Given the description of an element on the screen output the (x, y) to click on. 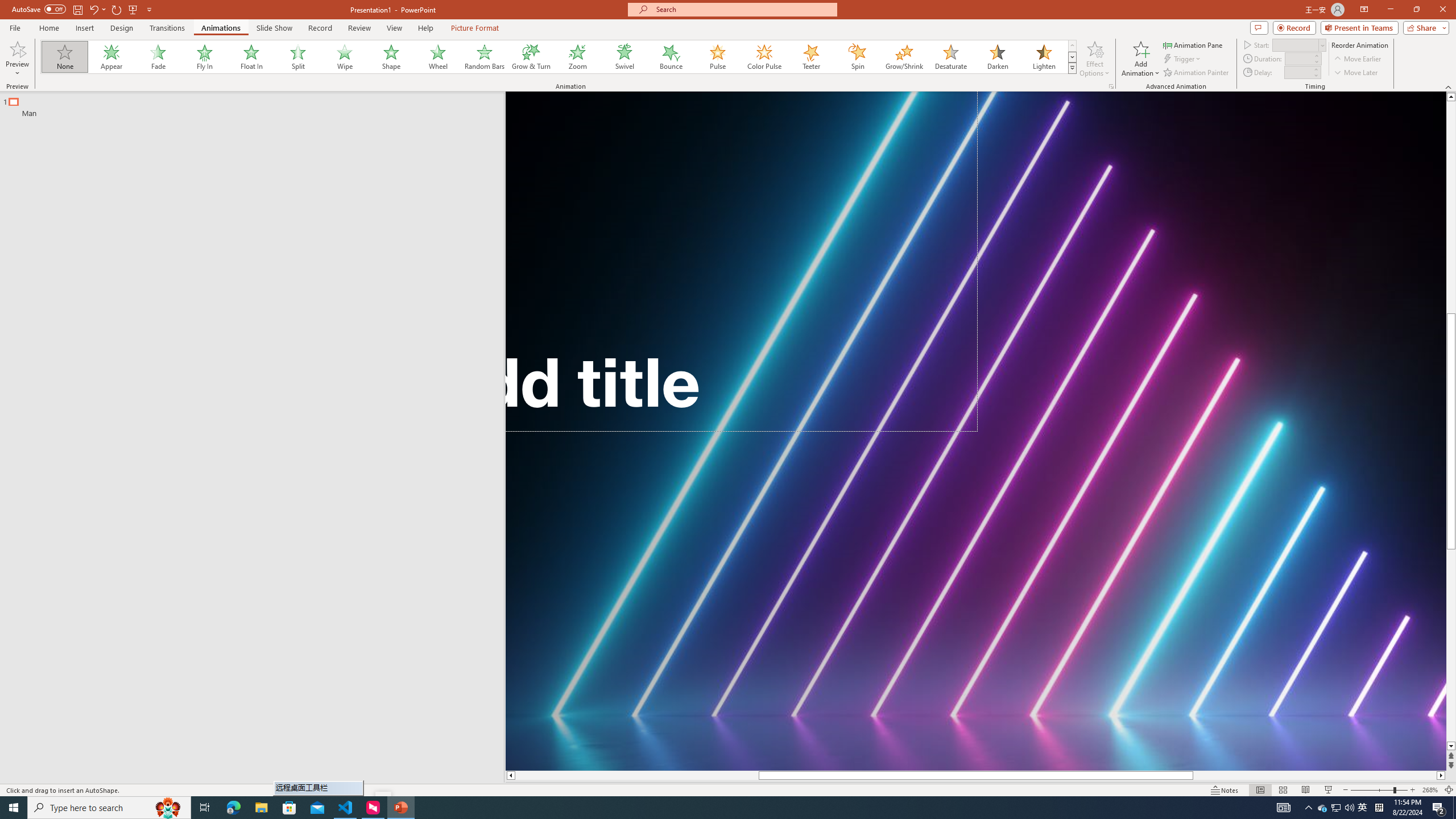
Move Later (1355, 72)
Appear (111, 56)
Lighten (1043, 56)
More Options... (1110, 85)
Grow/Shrink (903, 56)
Bounce (670, 56)
Animation Duration (1298, 58)
